Given the description of an element on the screen output the (x, y) to click on. 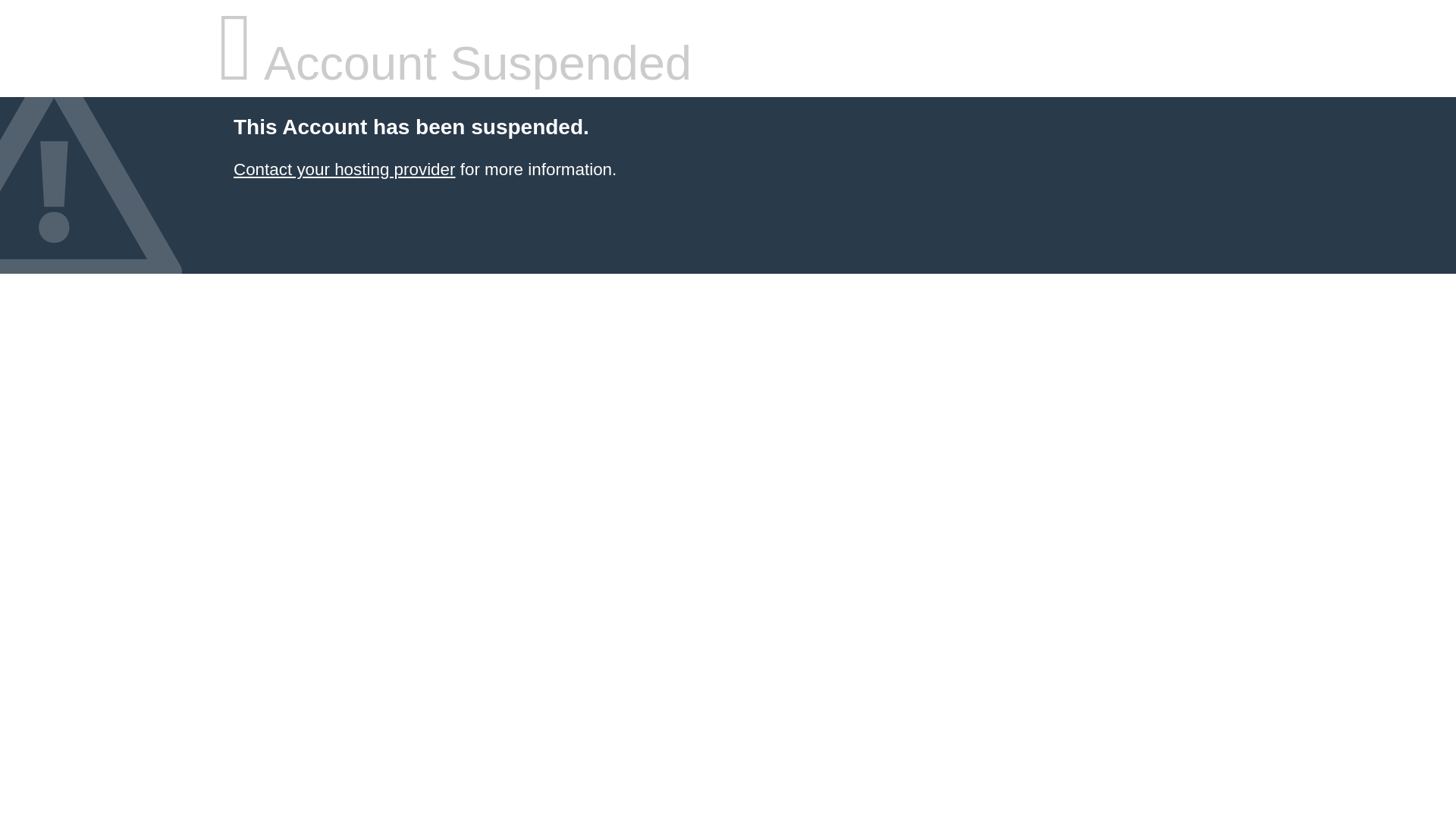
Contact your hosting provider Element type: text (344, 169)
